Given the description of an element on the screen output the (x, y) to click on. 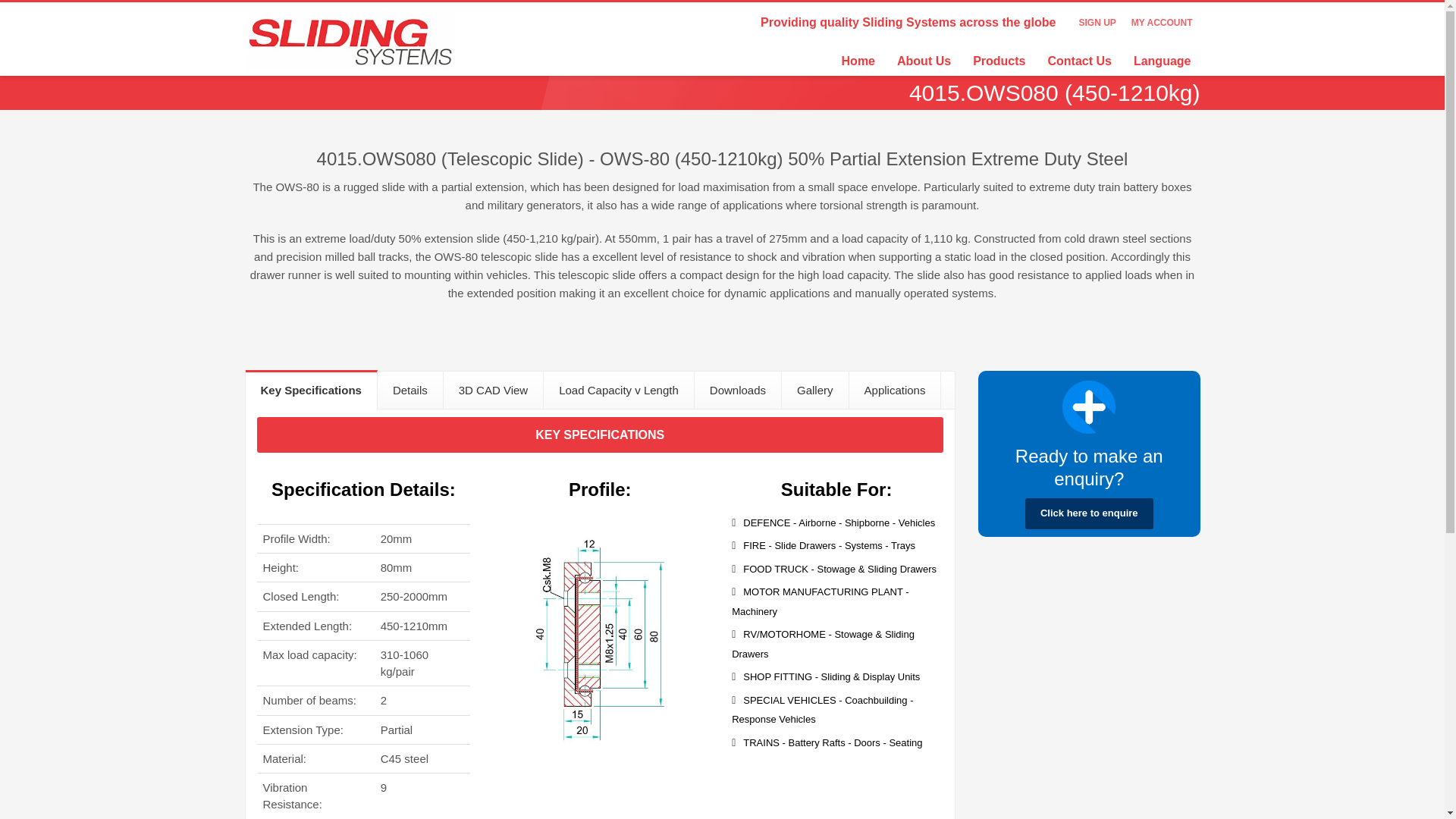
Contact Us (1078, 60)
Details (410, 390)
MY ACCOUNT (1161, 22)
About Us (923, 60)
Key Specifications (311, 389)
Sliding Systems (349, 39)
KEY SPECIFICATIONS (599, 434)
Load Capacity v Length (618, 390)
Applications (895, 390)
Language (1161, 60)
